Given the description of an element on the screen output the (x, y) to click on. 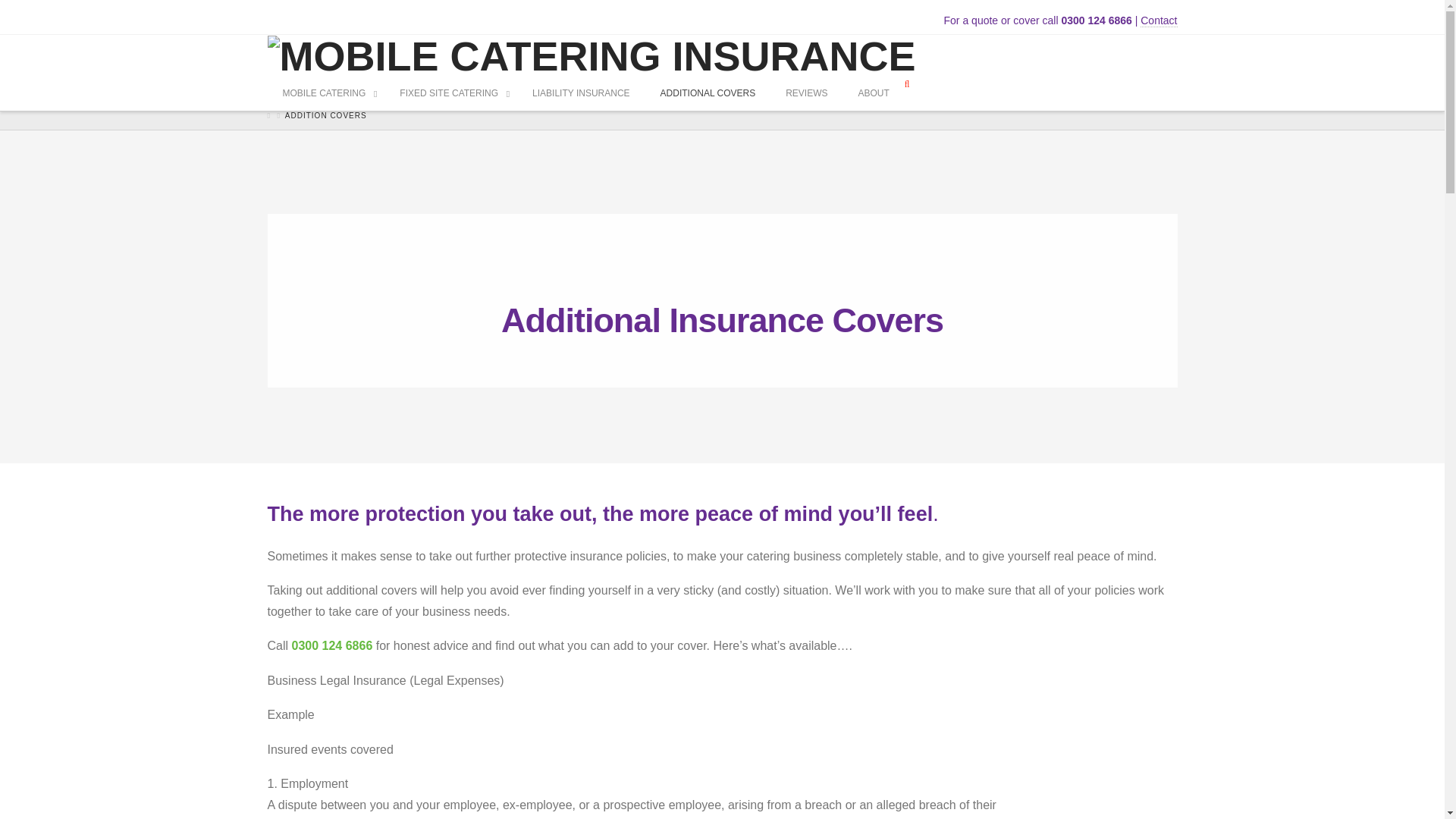
Mobile Catering Insurance (590, 53)
Contact (1158, 20)
FIXED SITE CATERING (450, 93)
MOBILE CATERING (325, 93)
